Given the description of an element on the screen output the (x, y) to click on. 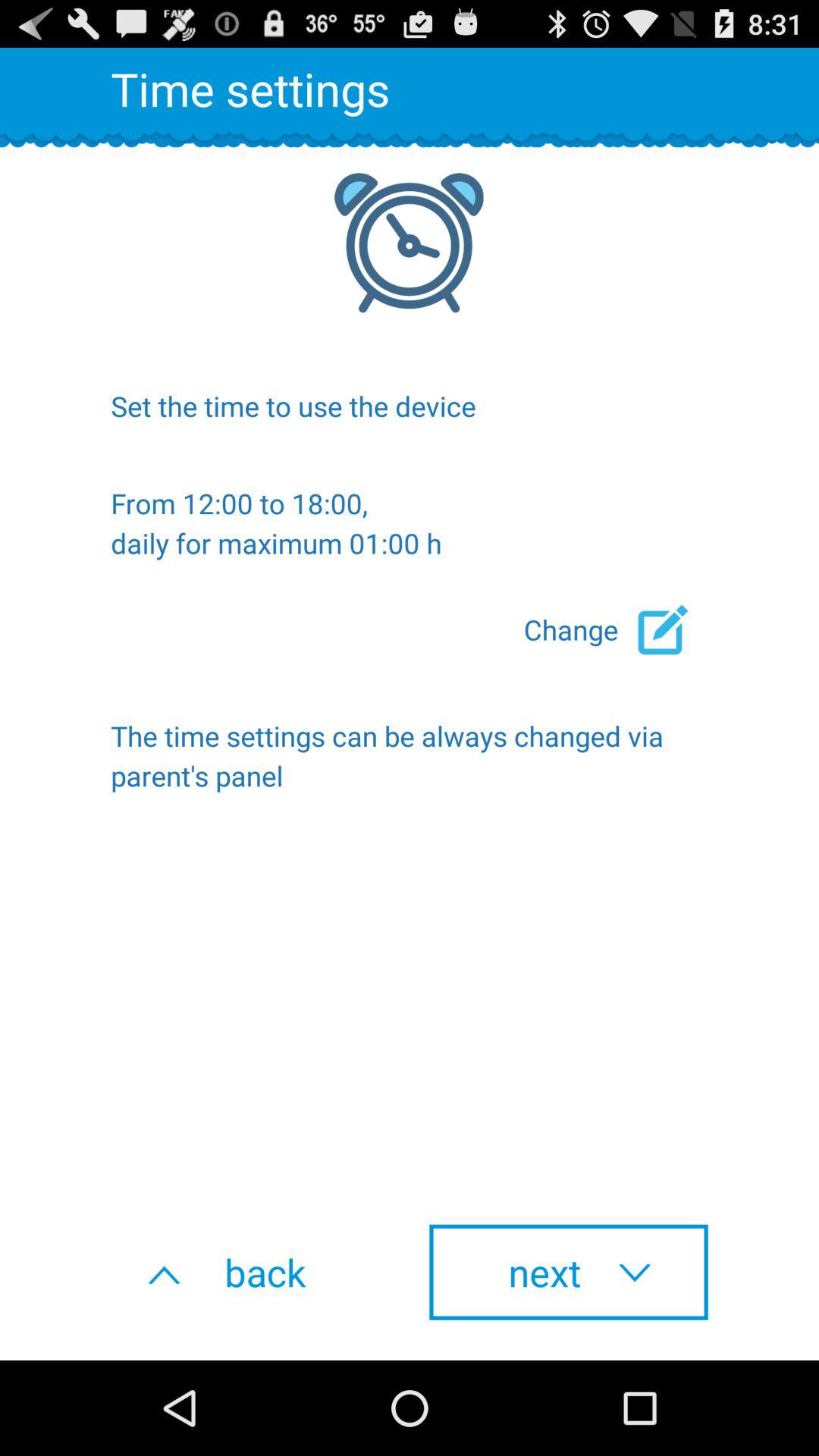
press the button to the left of next button (249, 1272)
